Given the description of an element on the screen output the (x, y) to click on. 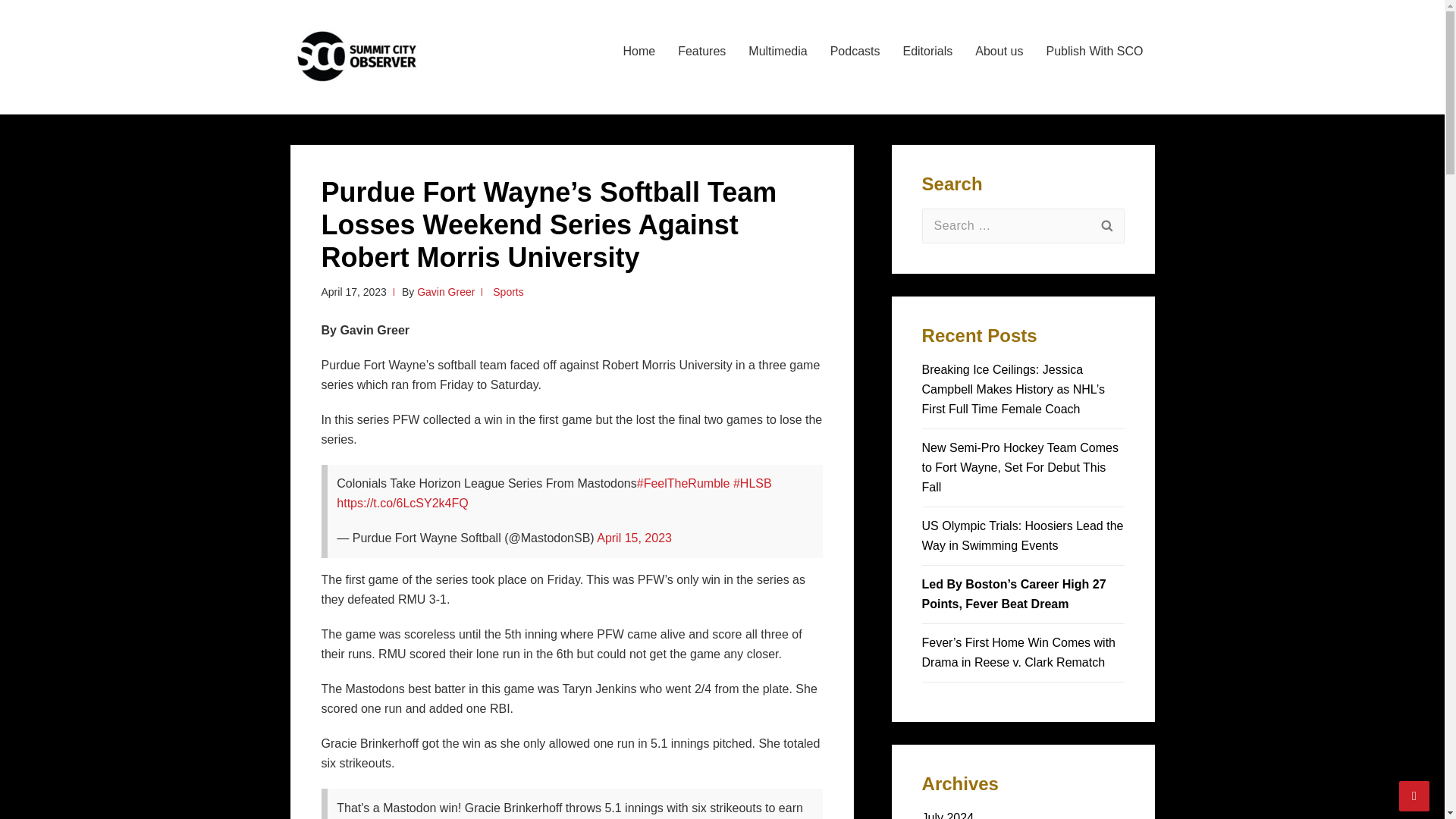
Gavin Greer (445, 291)
US Olympic Trials: Hoosiers Lead the Way in Swimming Events (1022, 535)
Podcasts (854, 51)
About us (998, 51)
Sports (507, 291)
Multimedia (777, 51)
Search (1106, 225)
Editorials (927, 51)
April 15, 2023 (633, 537)
Features (701, 51)
Home (638, 51)
Search (1106, 225)
Search (1106, 225)
View all posts by Gavin Greer (445, 291)
